Given the description of an element on the screen output the (x, y) to click on. 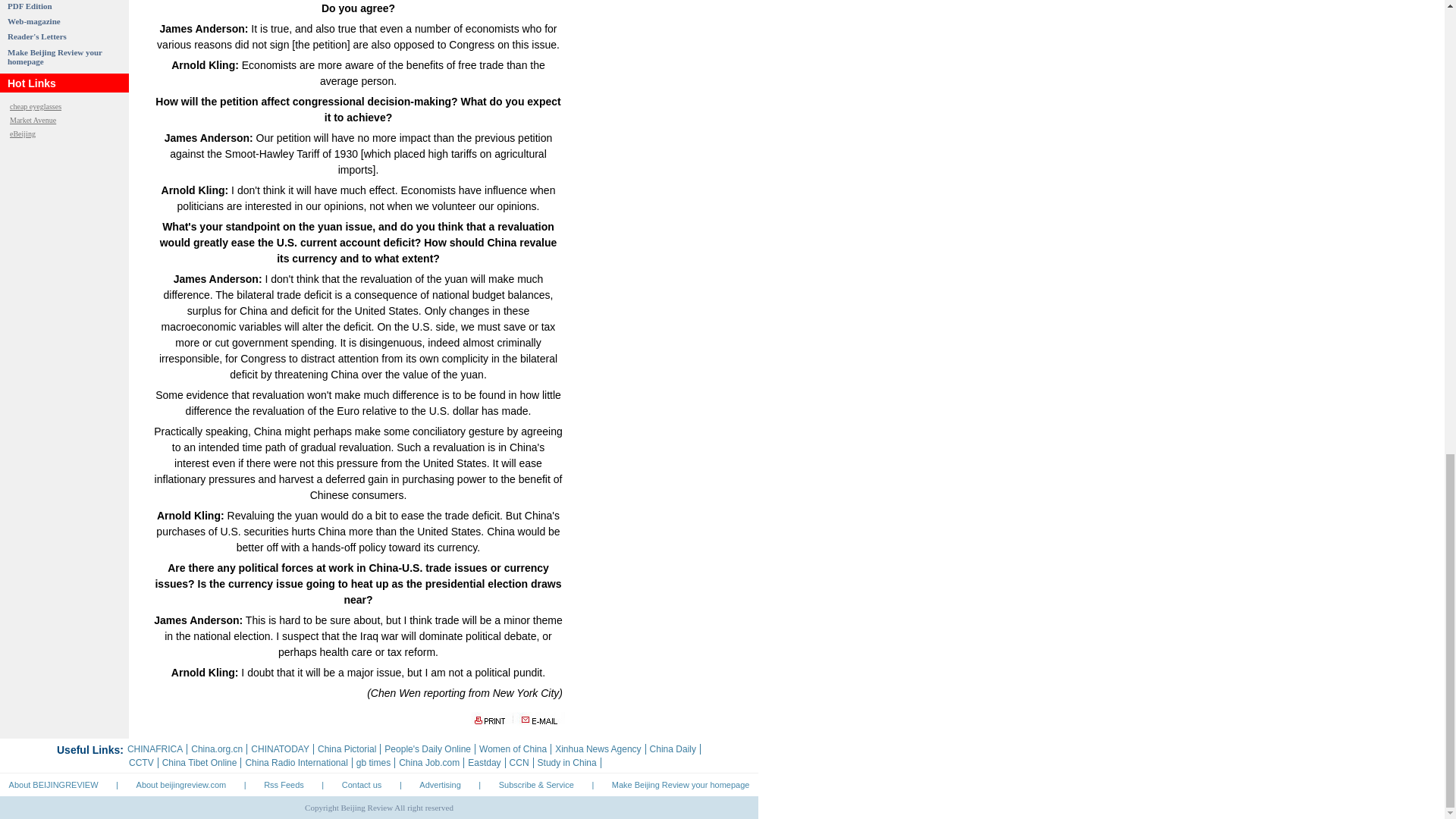
Reader's Letters (36, 35)
PDF Edition (29, 5)
Make Beijing Review your homepage (54, 56)
cheap eyeglasses (35, 106)
